Given the description of an element on the screen output the (x, y) to click on. 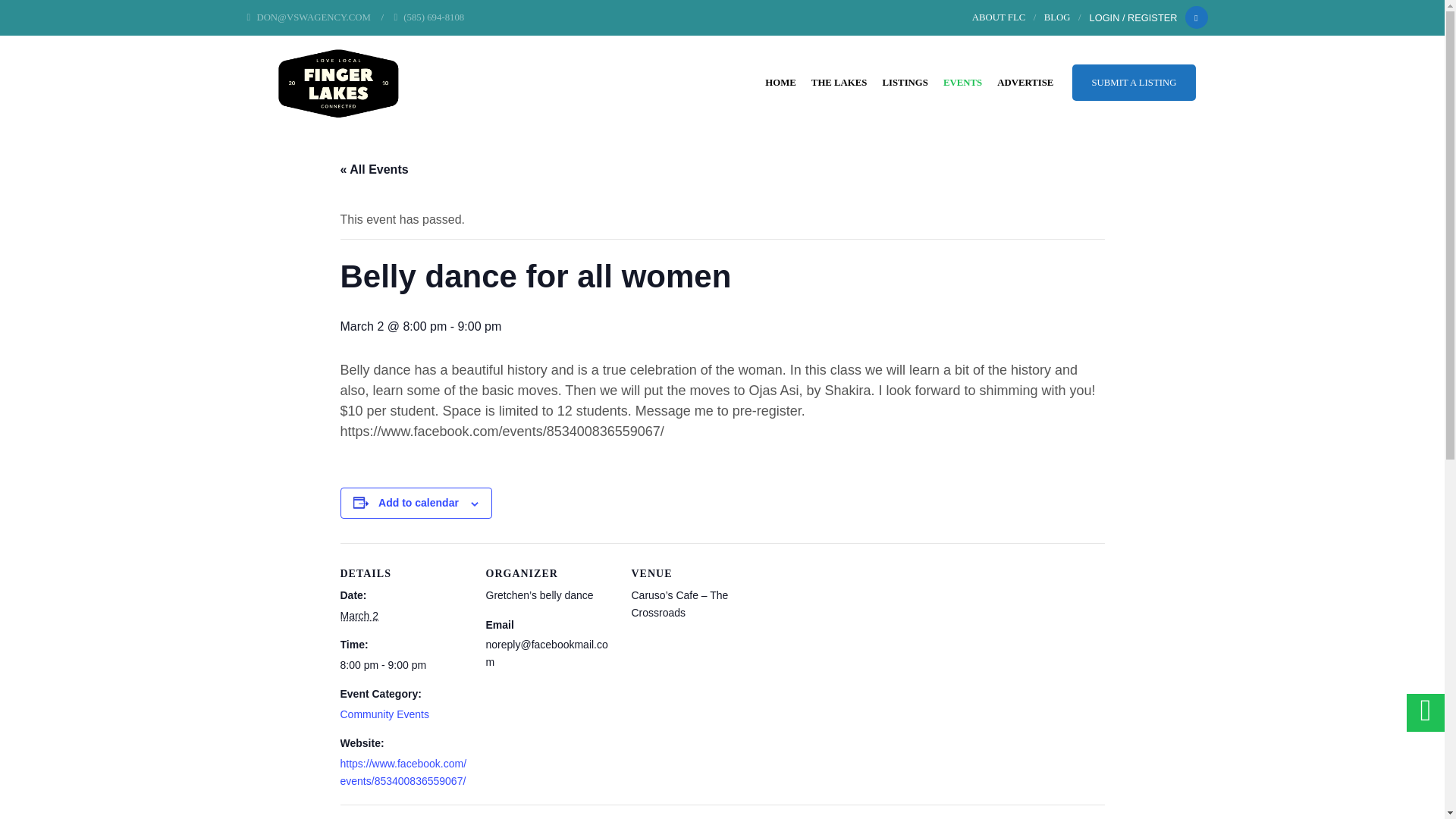
LISTINGS (904, 82)
ABOUT FLC (999, 17)
2024-03-02 (358, 615)
HOME (780, 82)
THE LAKES (839, 82)
2024-03-02 (403, 664)
